Given the description of an element on the screen output the (x, y) to click on. 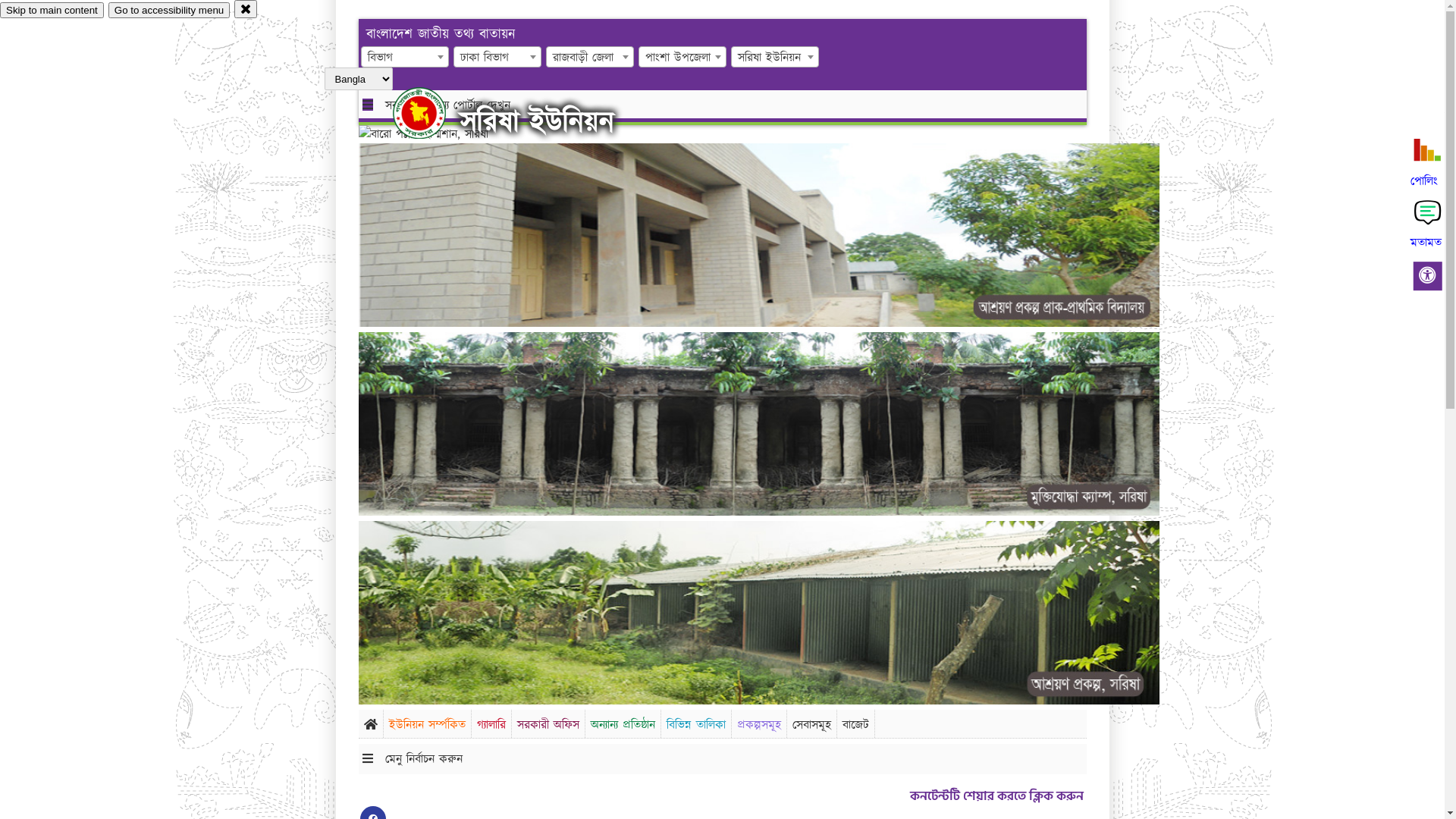
Skip to main content Element type: text (51, 10)

                
             Element type: hover (431, 112)
Go to accessibility menu Element type: text (168, 10)
close Element type: hover (245, 9)
